Given the description of an element on the screen output the (x, y) to click on. 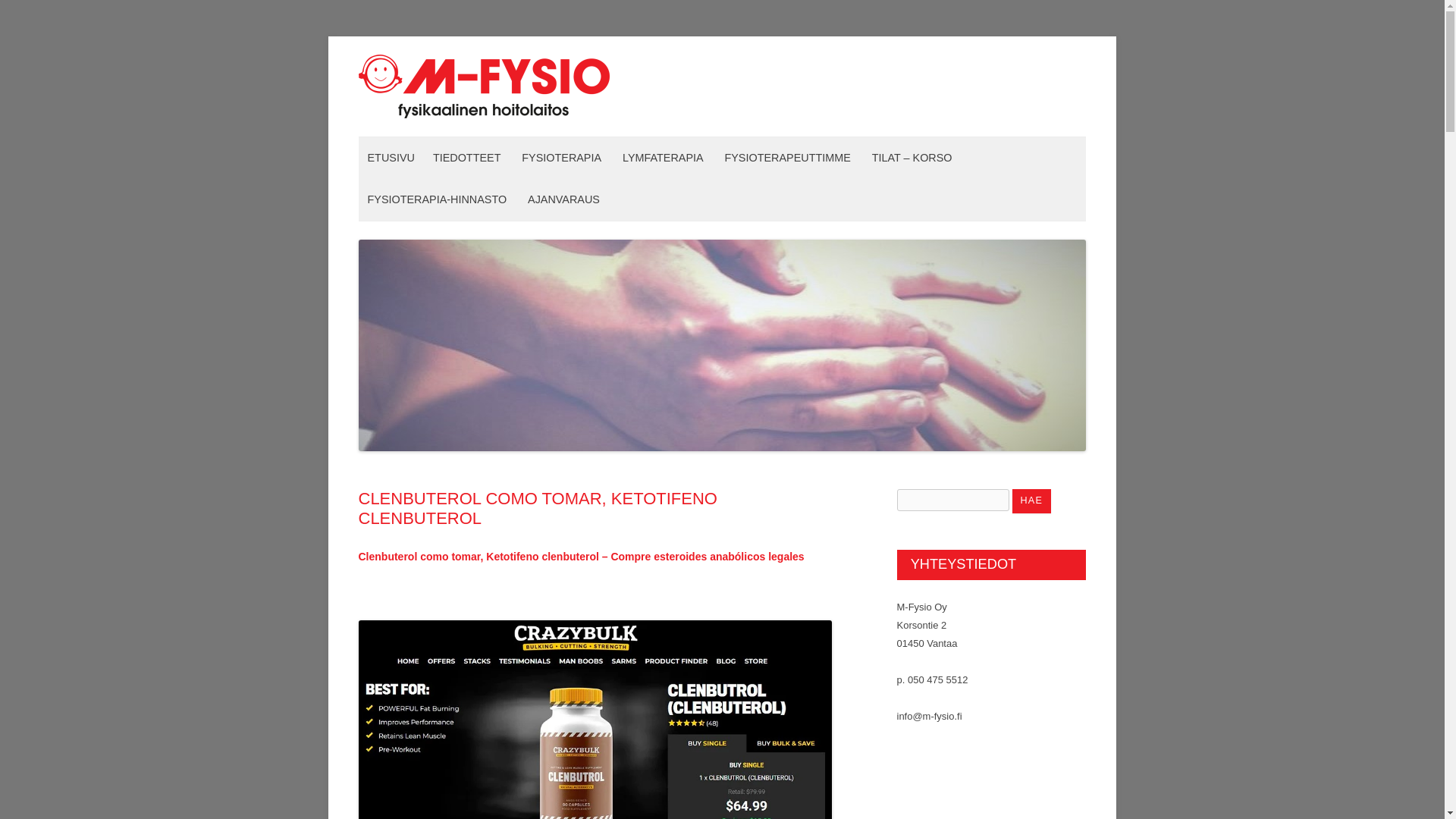
TIEDOTTEET (466, 158)
FYSIOTERAPIA-HINNASTO (436, 199)
FYSIOTERAPIA (560, 158)
Clenbuterol como tomar (594, 719)
AJANVARAUS (563, 199)
LYMFATERAPIA (662, 158)
ETUSIVU (390, 158)
Hae (1031, 500)
Hae (1031, 500)
FYSIOTERAPEUTTIMME (786, 158)
